Given the description of an element on the screen output the (x, y) to click on. 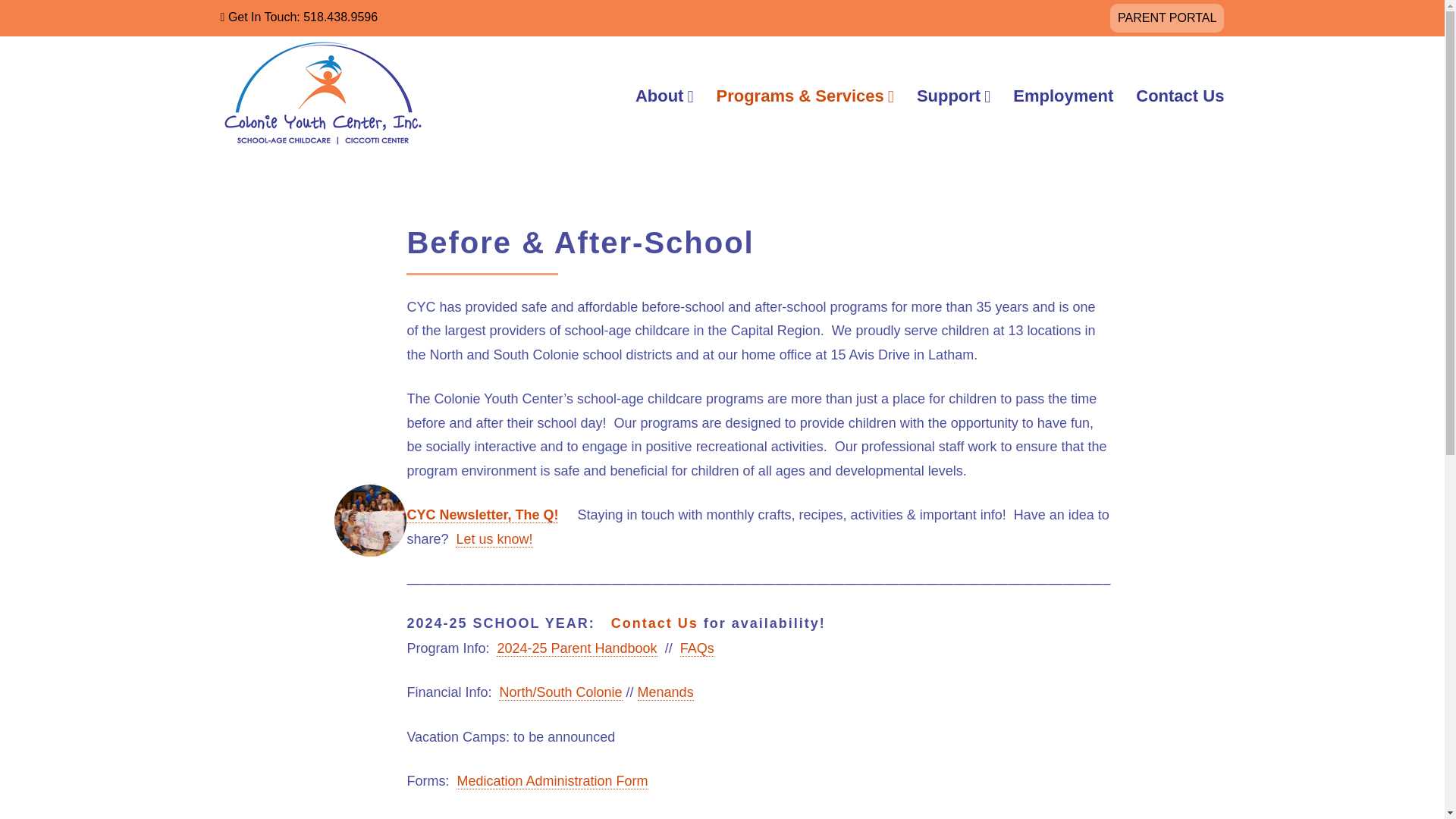
PDF (552, 781)
About (659, 99)
Support (948, 99)
PDF (665, 692)
PDF (560, 692)
PARENT PORTAL (1166, 18)
Get In Touch: 518.438.9596 (299, 16)
PDF (696, 647)
PDF (481, 514)
PDF (576, 647)
